Given the description of an element on the screen output the (x, y) to click on. 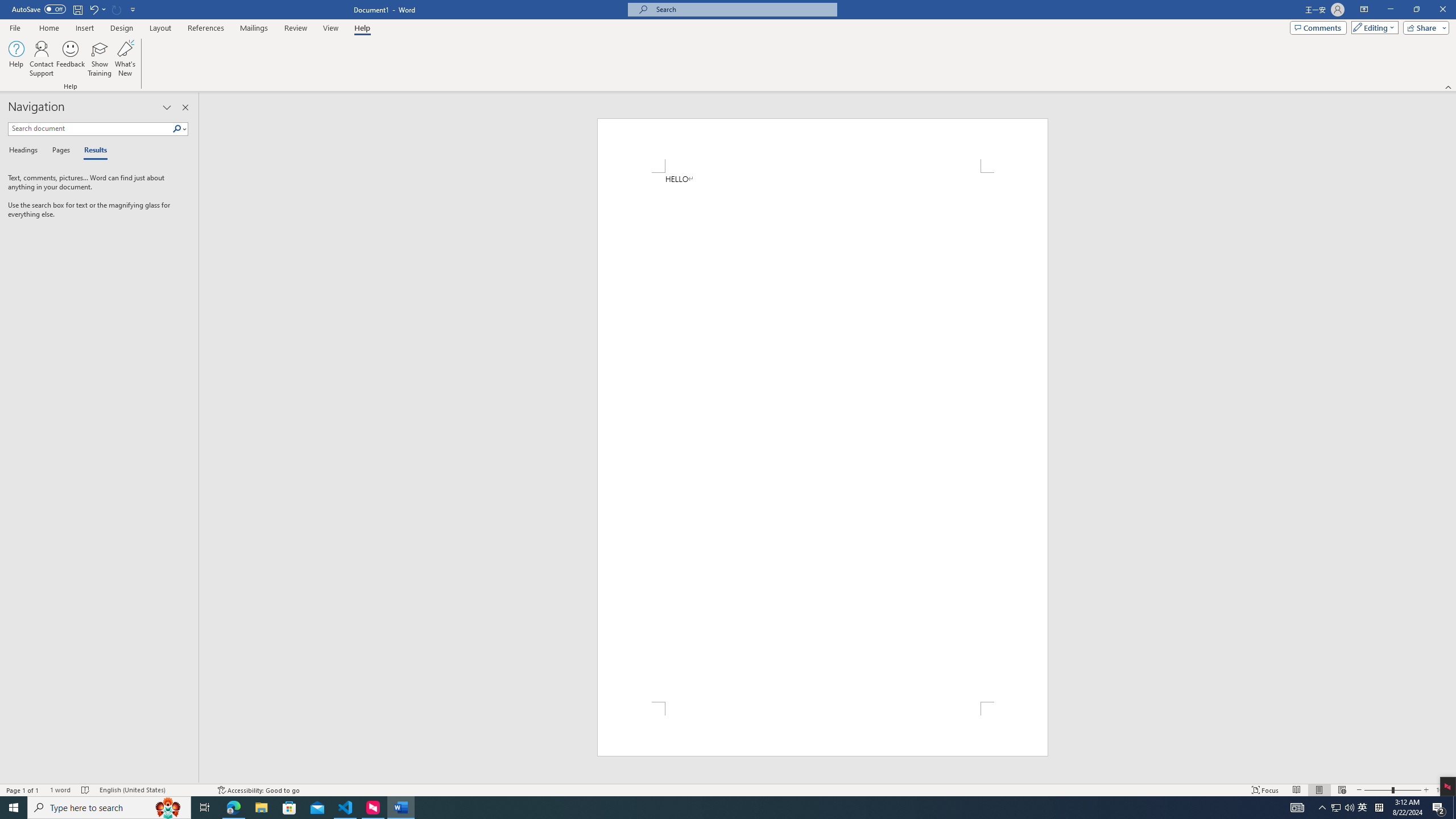
Save (77, 9)
Page 1 content (822, 436)
More Options (103, 9)
Spelling and Grammar Check No Errors (85, 790)
Microsoft search (742, 9)
Collapse the Ribbon (1448, 86)
Minimize (1390, 9)
Zoom (1392, 790)
What's New (124, 58)
Mailings (253, 28)
Design (122, 28)
Comments (1318, 27)
Help (361, 28)
